Given the description of an element on the screen output the (x, y) to click on. 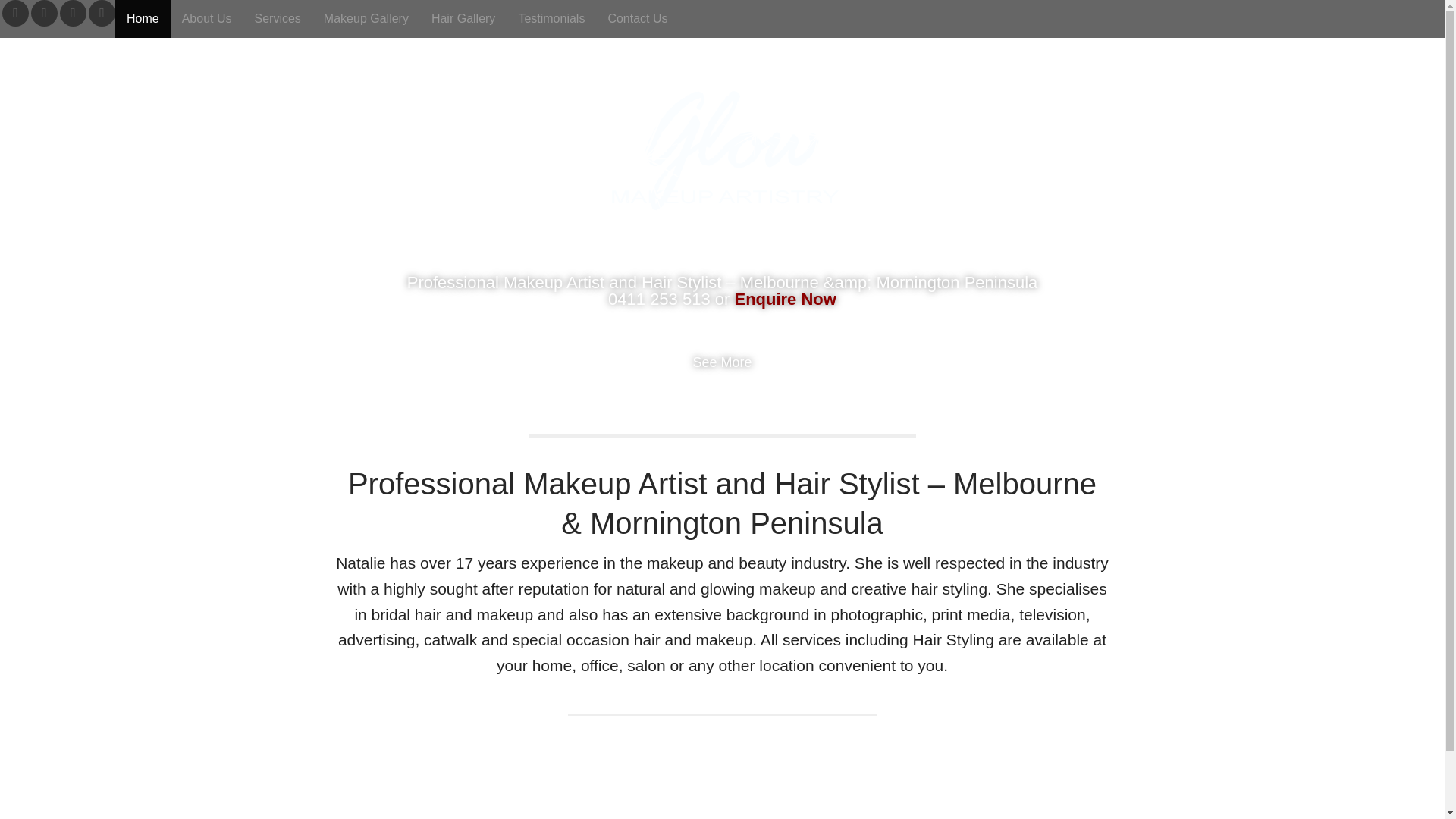
See More (721, 378)
Testimonials (550, 18)
Home (142, 18)
Hair Gallery (463, 18)
About Us (206, 18)
Contact Us (636, 18)
Makeup Gallery (366, 18)
Services (277, 18)
